Given the description of an element on the screen output the (x, y) to click on. 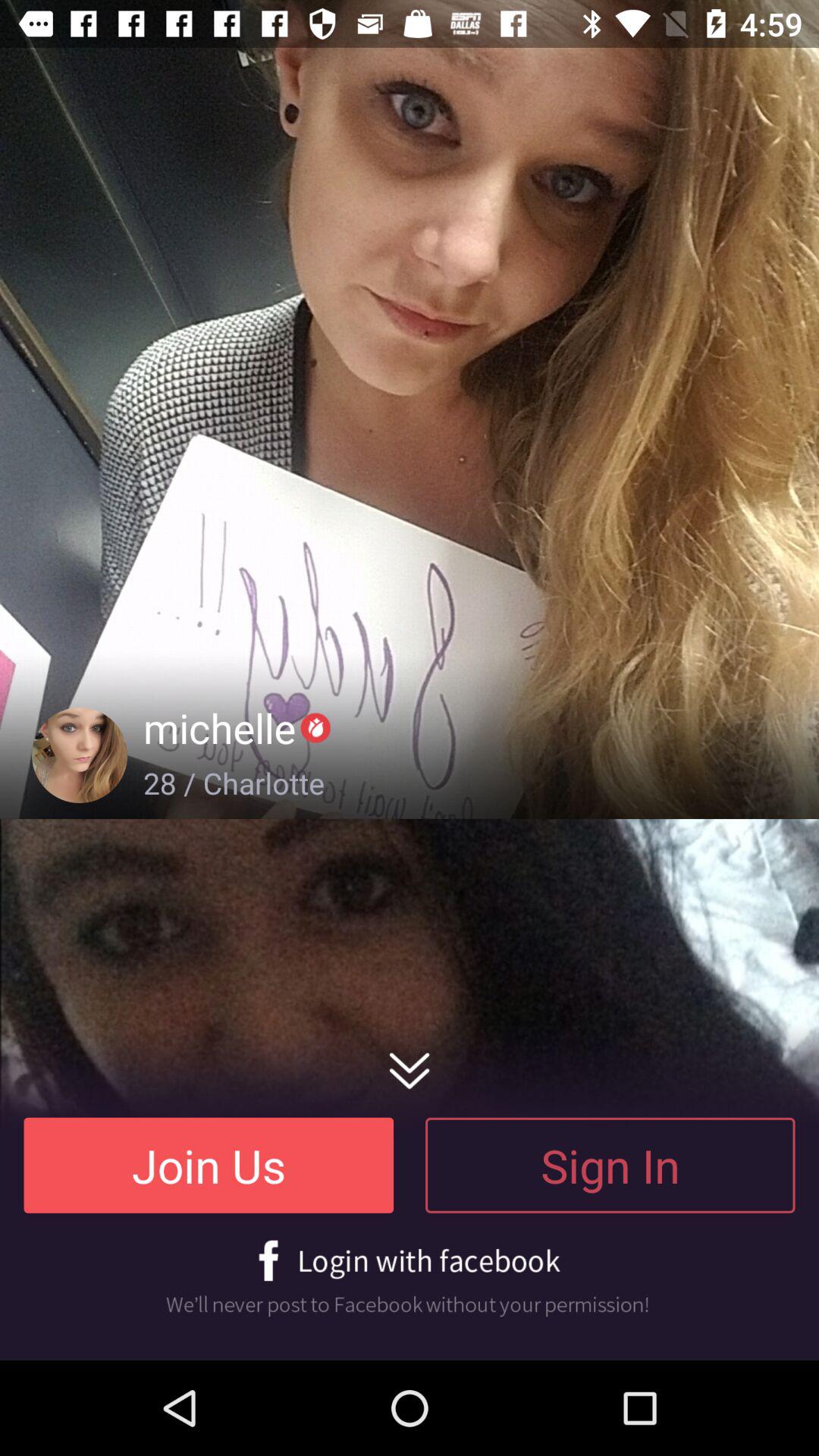
select the icon to the left of sign in item (208, 1165)
